Given the description of an element on the screen output the (x, y) to click on. 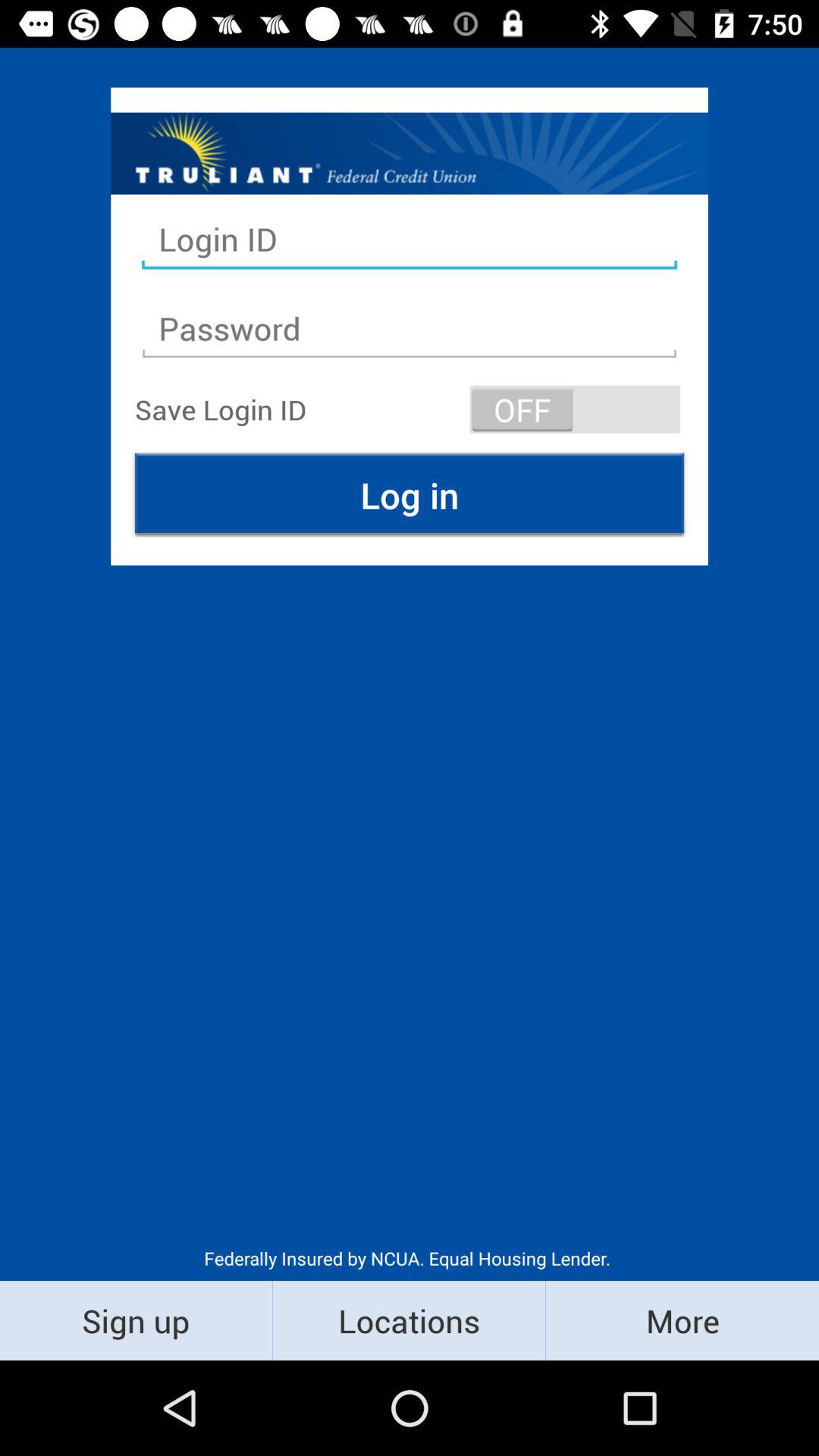
choose the item at the bottom right corner (682, 1320)
